Given the description of an element on the screen output the (x, y) to click on. 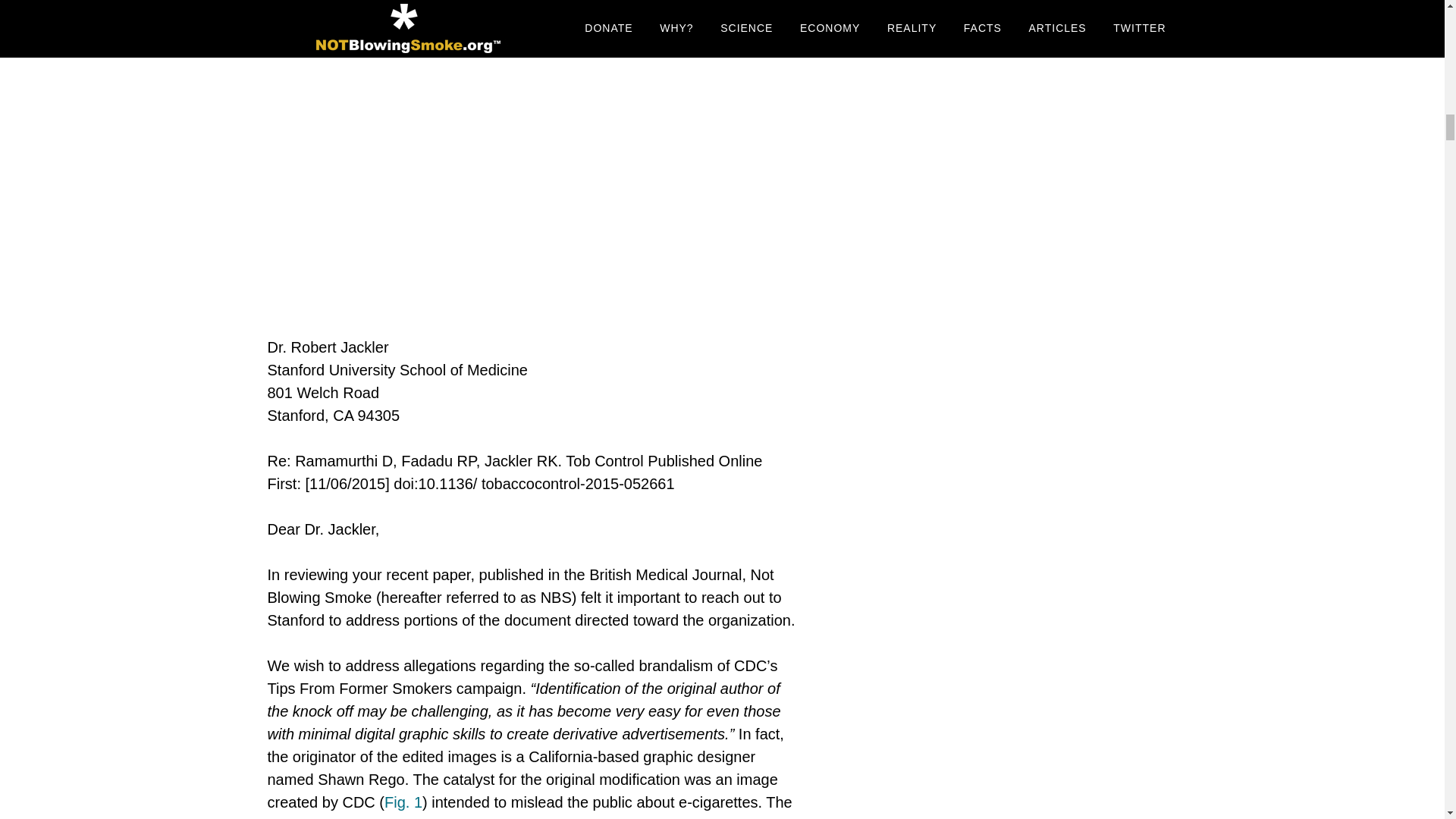
Fig. 1 (403, 801)
